Given the description of an element on the screen output the (x, y) to click on. 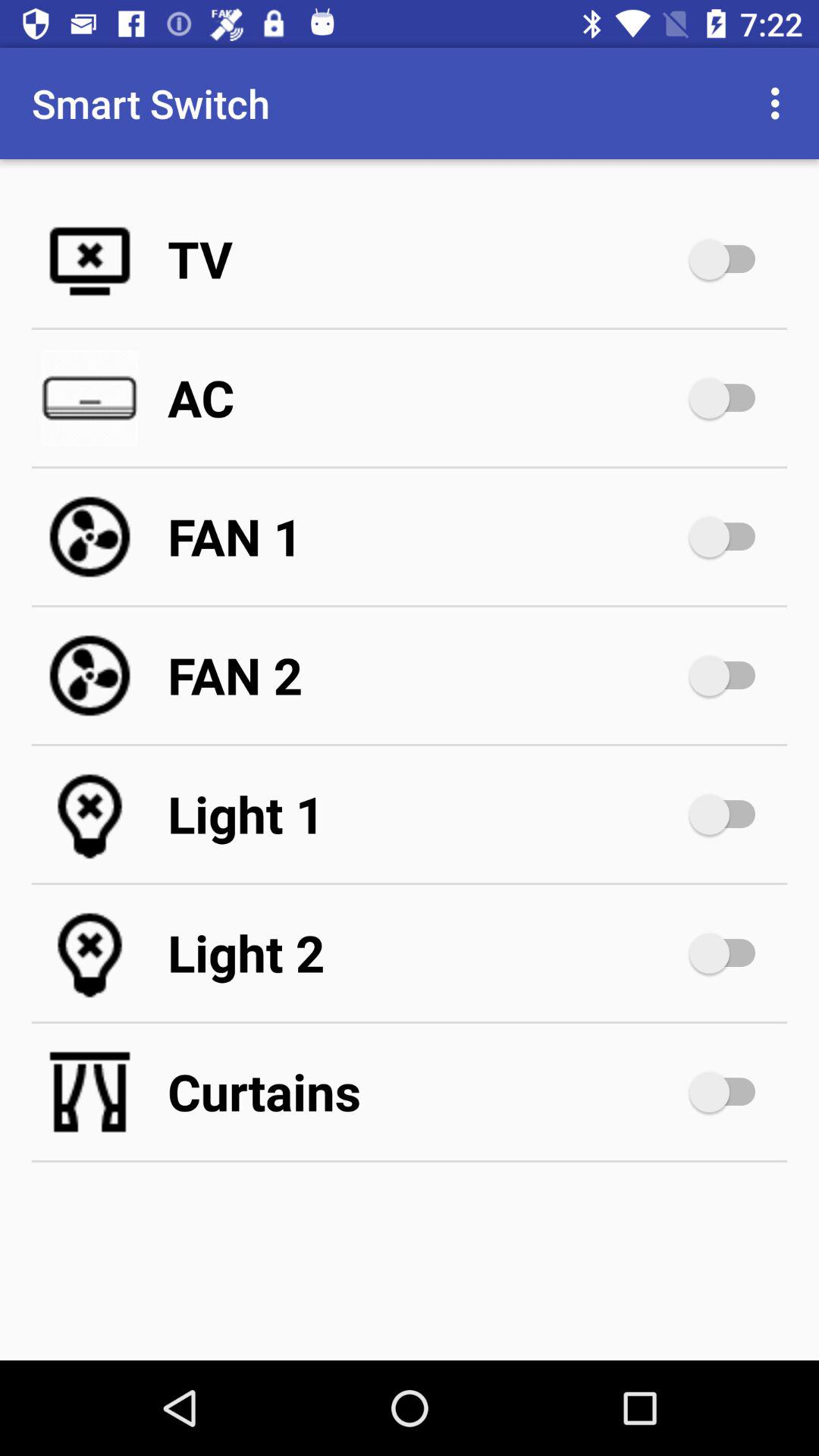
toggle tv option (729, 259)
